Given the description of an element on the screen output the (x, y) to click on. 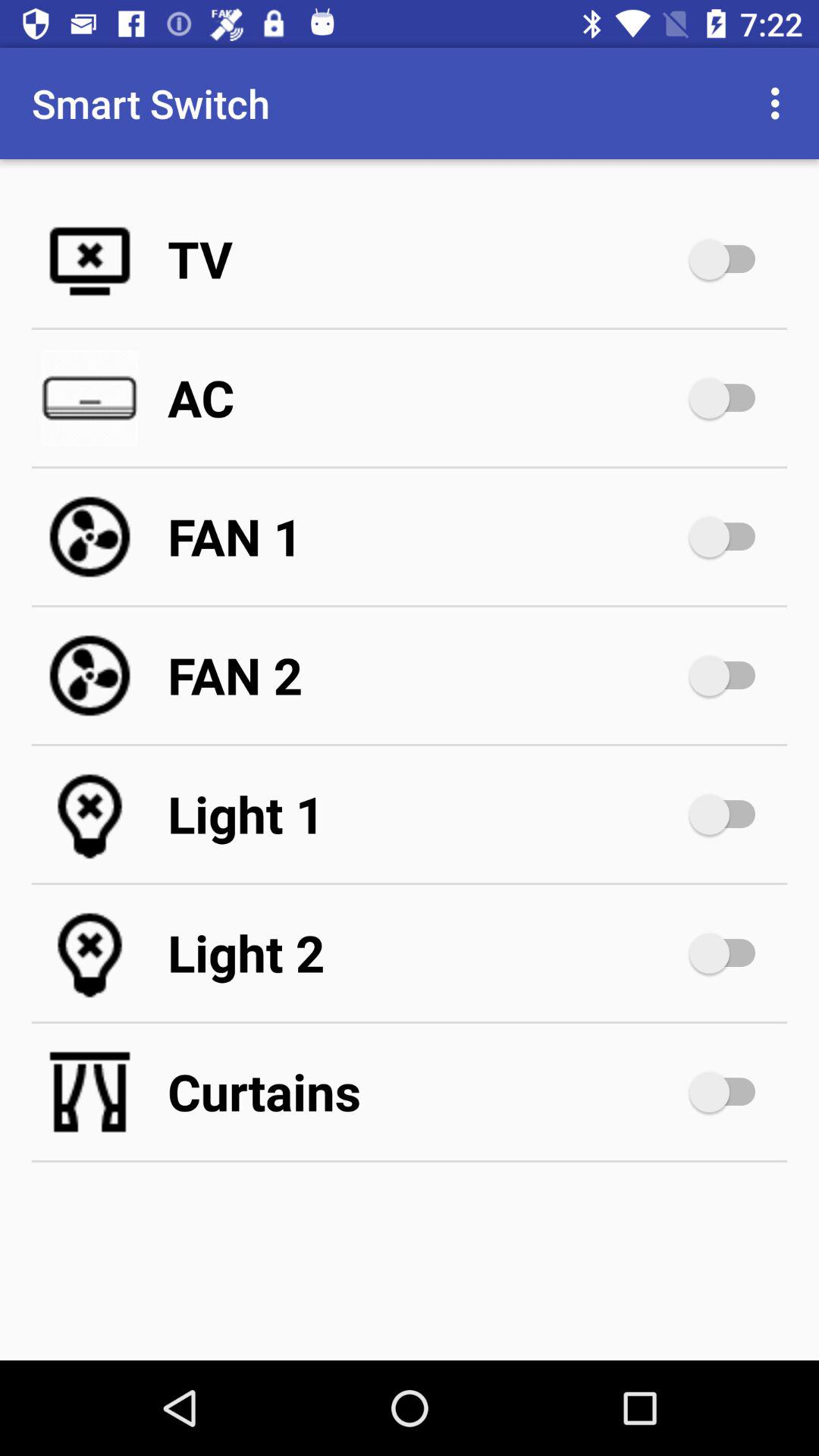
toggle tv option (729, 259)
